Given the description of an element on the screen output the (x, y) to click on. 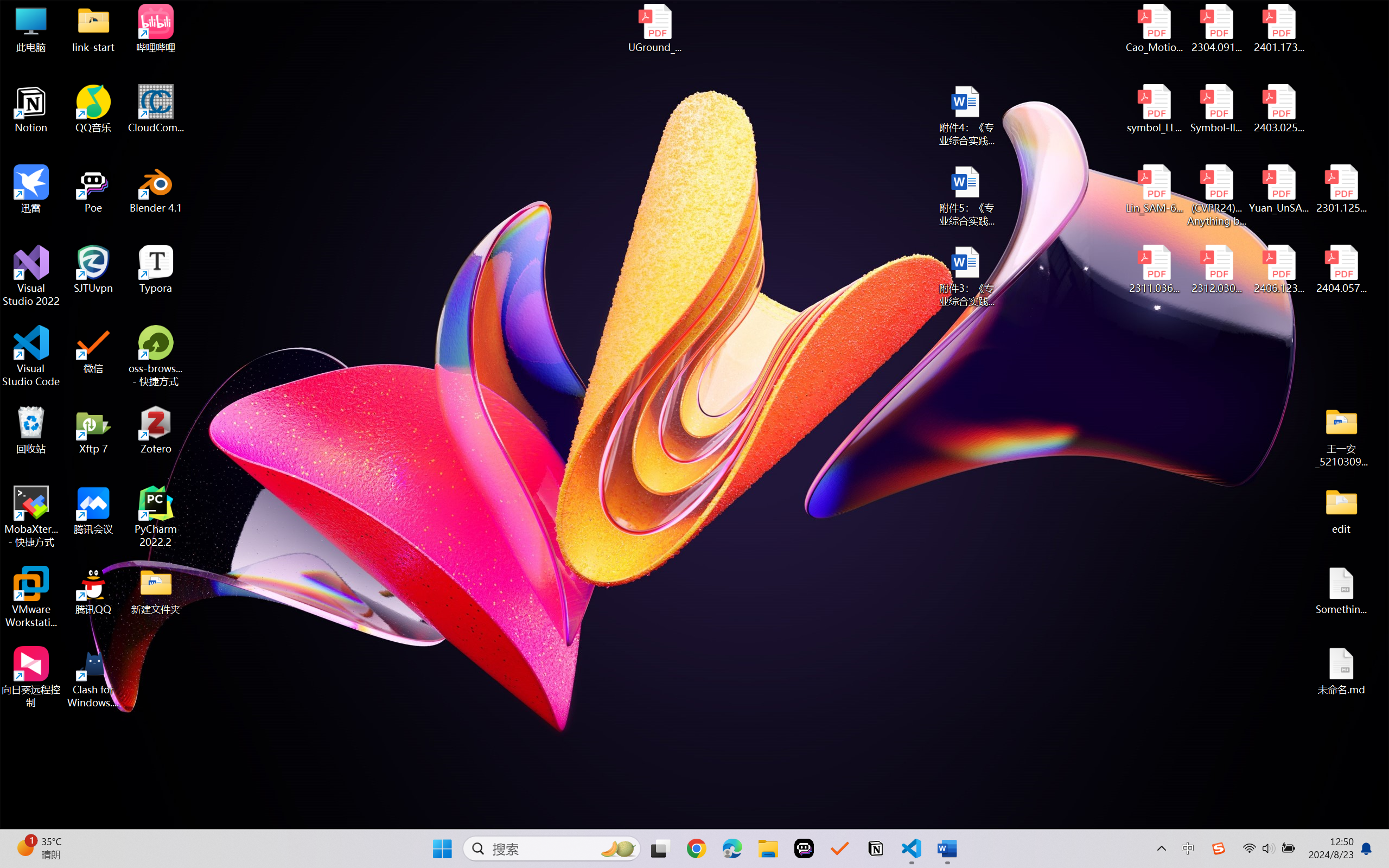
2304.09121v3.pdf (1216, 28)
UGround_paper.pdf (654, 28)
2301.12597v3.pdf (1340, 189)
2404.05719v1.pdf (1340, 269)
Visual Studio Code (31, 355)
